Given the description of an element on the screen output the (x, y) to click on. 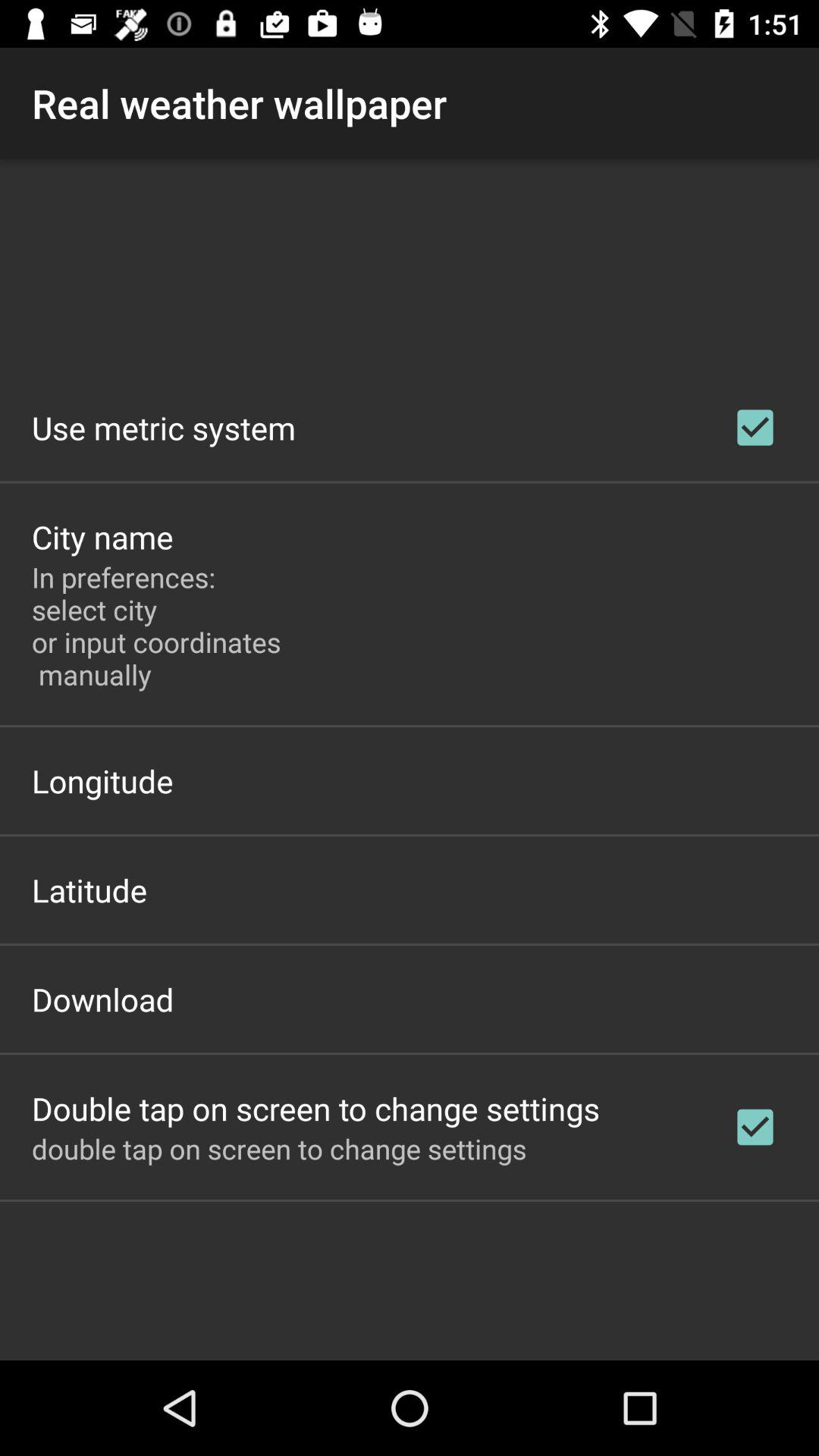
turn on icon above download (89, 889)
